Given the description of an element on the screen output the (x, y) to click on. 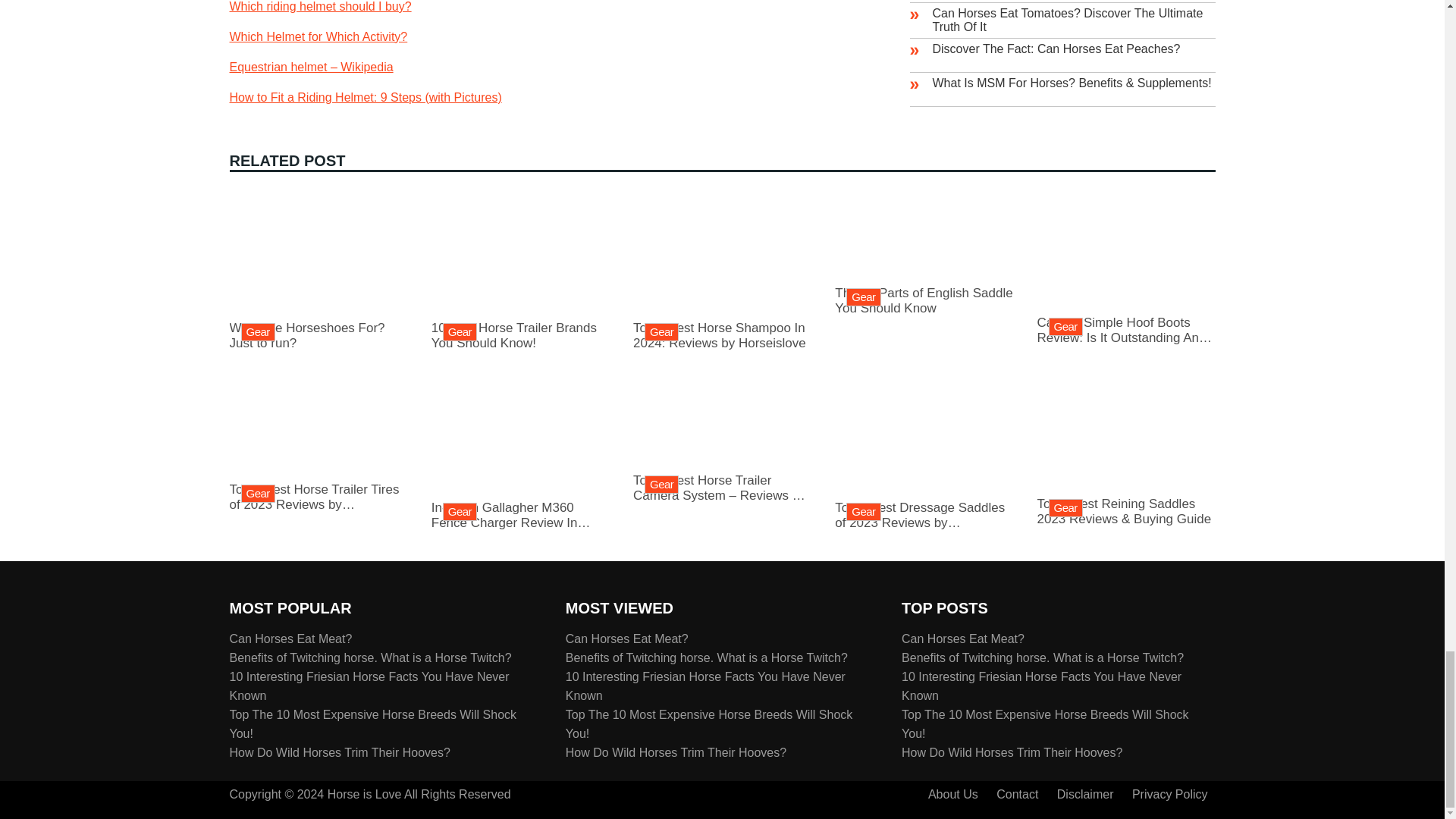
How Do Wild Horses Trim Their Hooves? (923, 292)
Benefits of Twitching horse. What is a Horse Twitch? (338, 751)
Which riding helmet should I buy? (520, 506)
Can Horses Eat Meat? (369, 657)
